Given the description of an element on the screen output the (x, y) to click on. 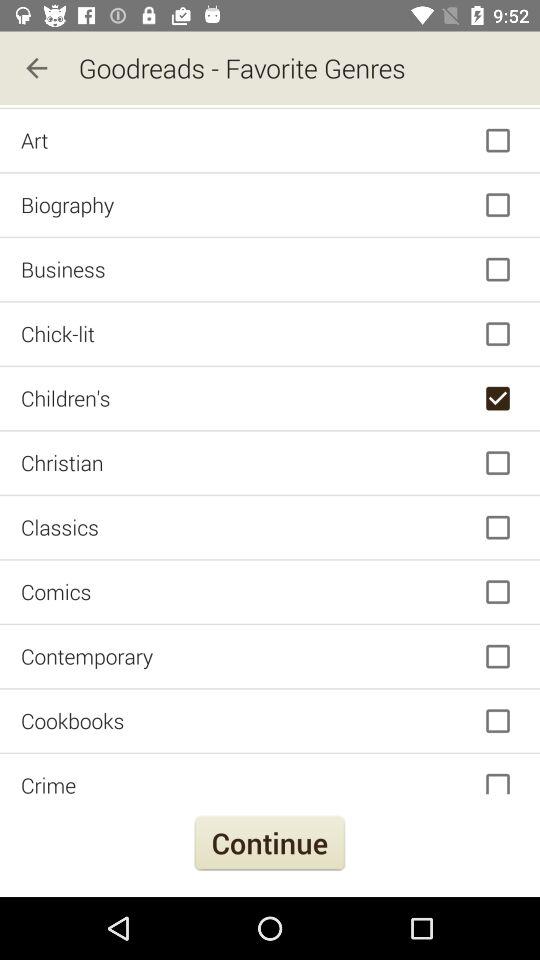
turn off the icon to the left of the goodreads - favorite genres (36, 68)
